Given the description of an element on the screen output the (x, y) to click on. 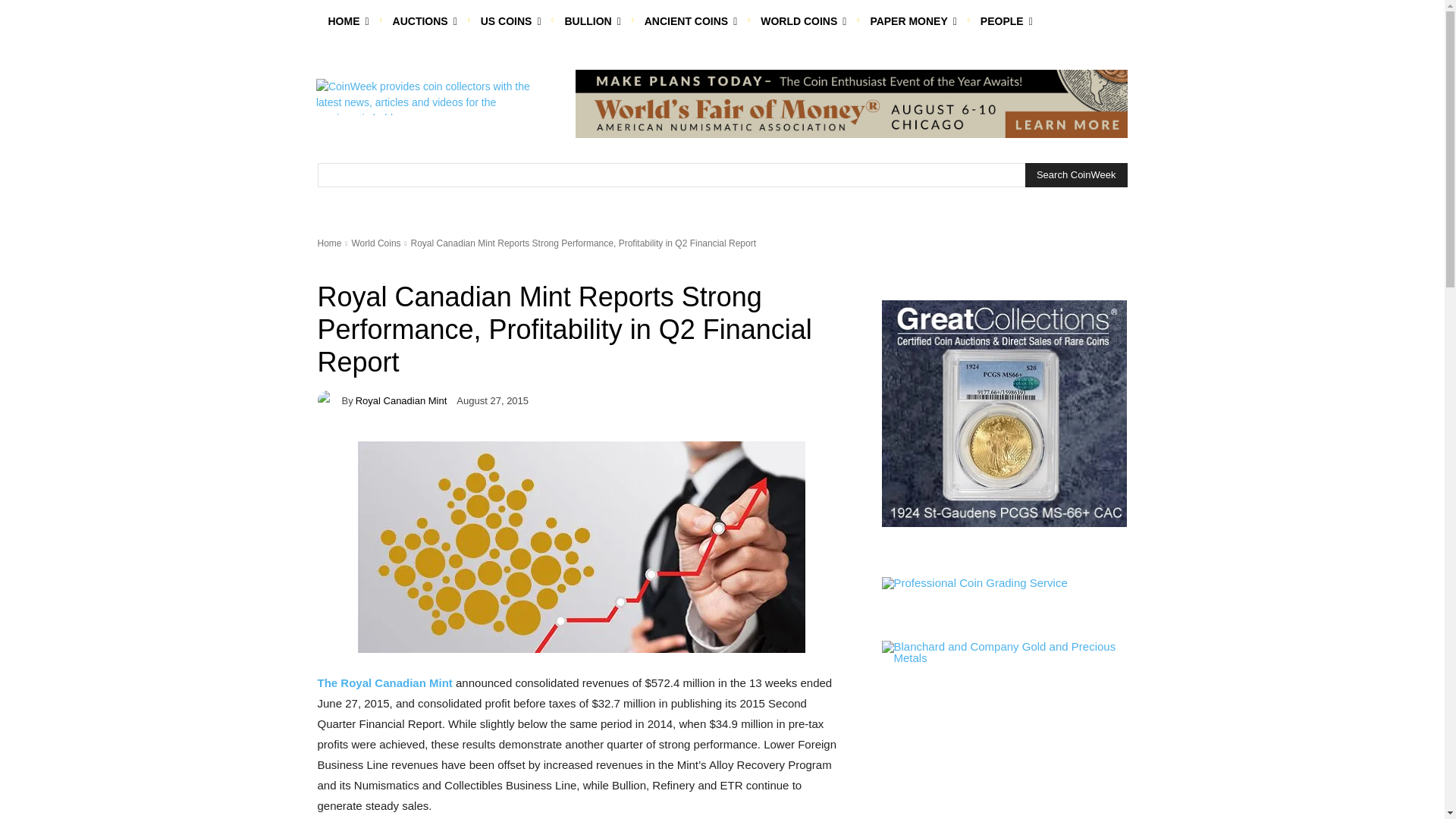
HOME (347, 21)
AUCTIONS (424, 21)
View all posts in World Coins (375, 243)
Royal Canadian Mint (328, 400)
